Given the description of an element on the screen output the (x, y) to click on. 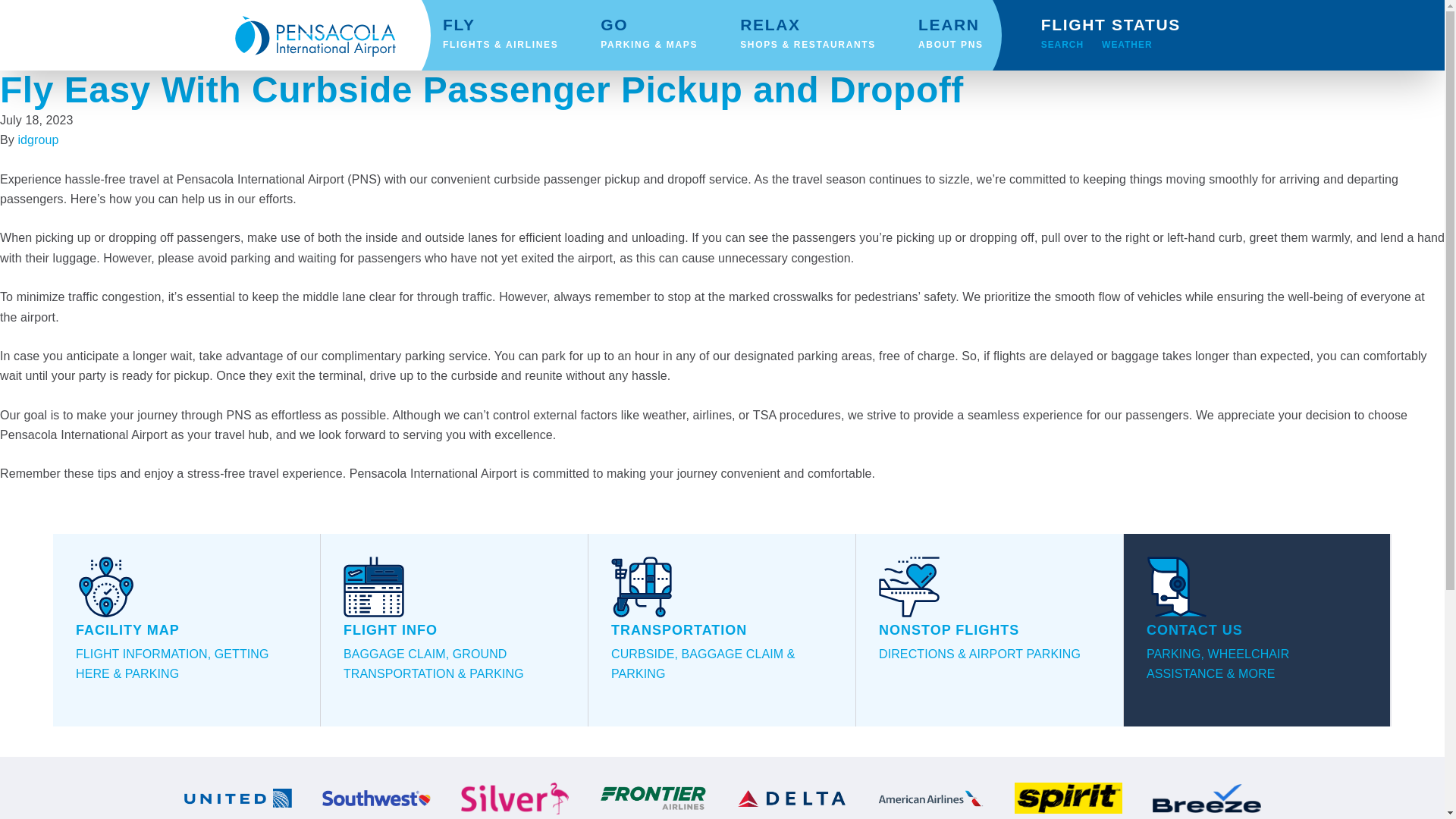
WEATHER (1126, 47)
FLIGHT STATUS (1110, 17)
Search (954, 40)
SEARCH (947, 35)
